Given the description of an element on the screen output the (x, y) to click on. 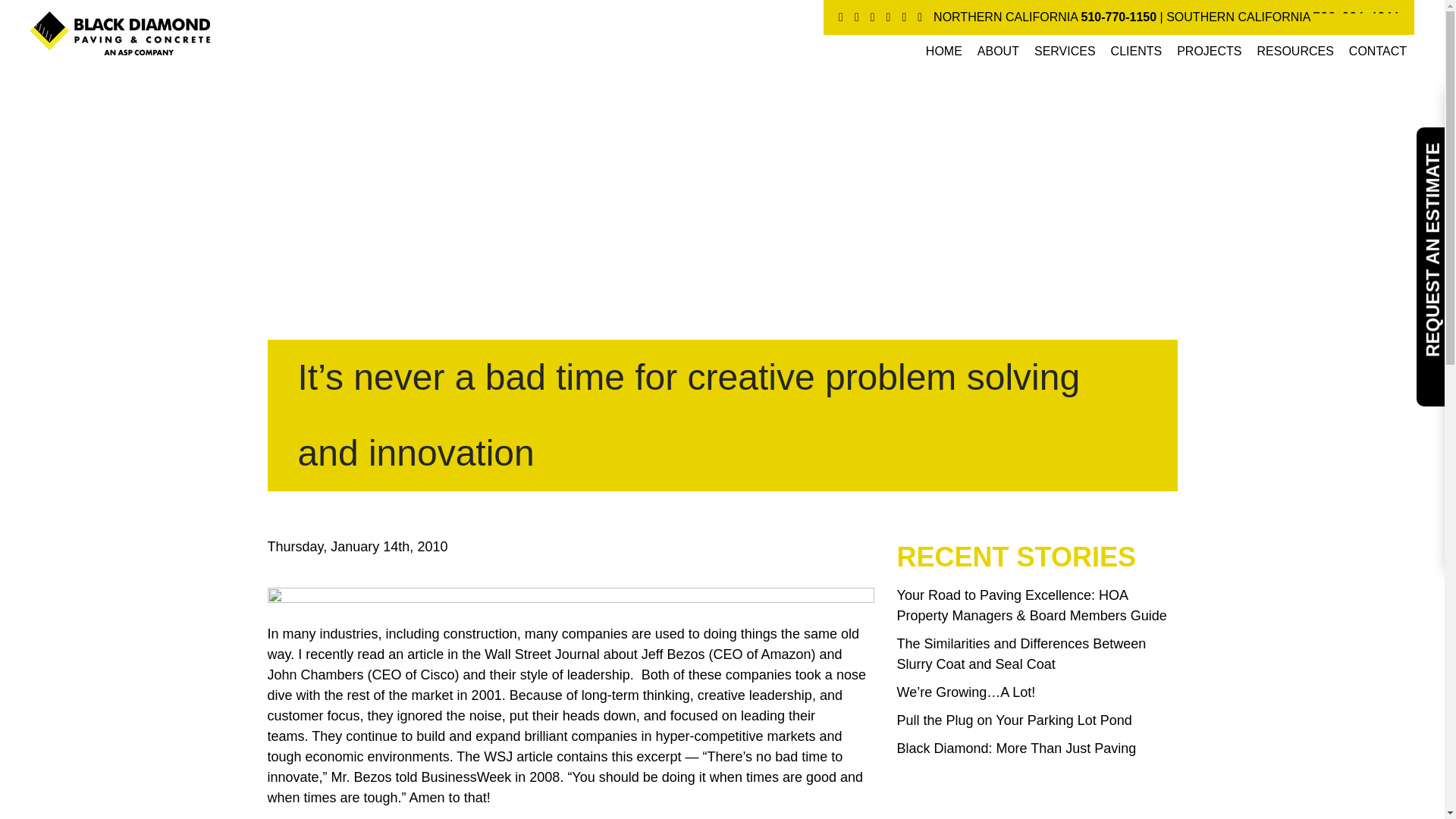
PROJECTS (1209, 51)
HOME (943, 51)
CLIENTS (1136, 51)
ABOUT (997, 51)
RESOURCES (1294, 51)
510-770-1150 (1119, 16)
SERVICES (1064, 51)
